Given the description of an element on the screen output the (x, y) to click on. 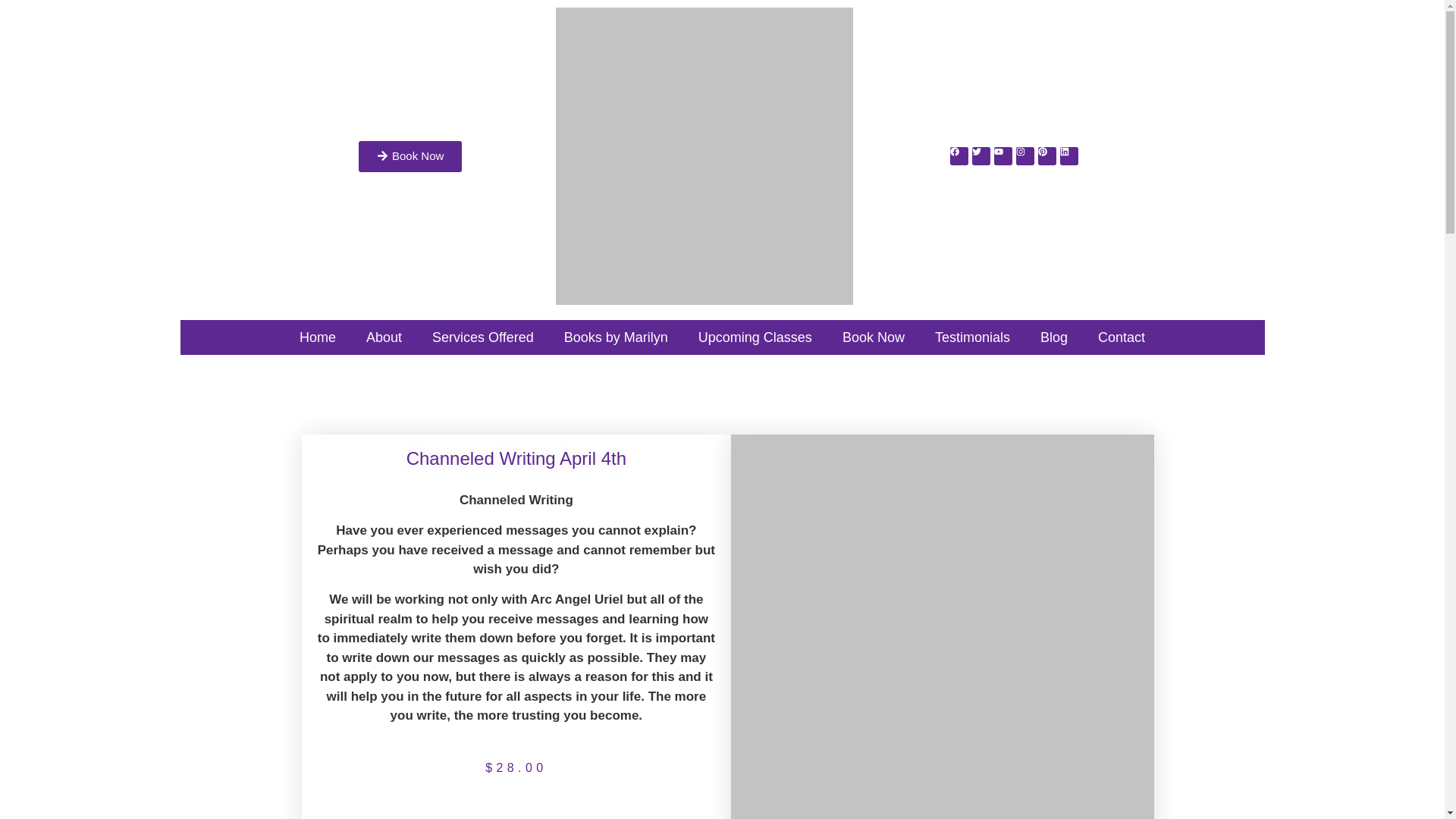
Book Now (409, 155)
Book Now (873, 337)
Blog (1054, 337)
Books by Marilyn (615, 337)
Upcoming Classes (754, 337)
About (383, 337)
Home (316, 337)
Testimonials (972, 337)
Contact (1121, 337)
Services Offered (482, 337)
